Given the description of an element on the screen output the (x, y) to click on. 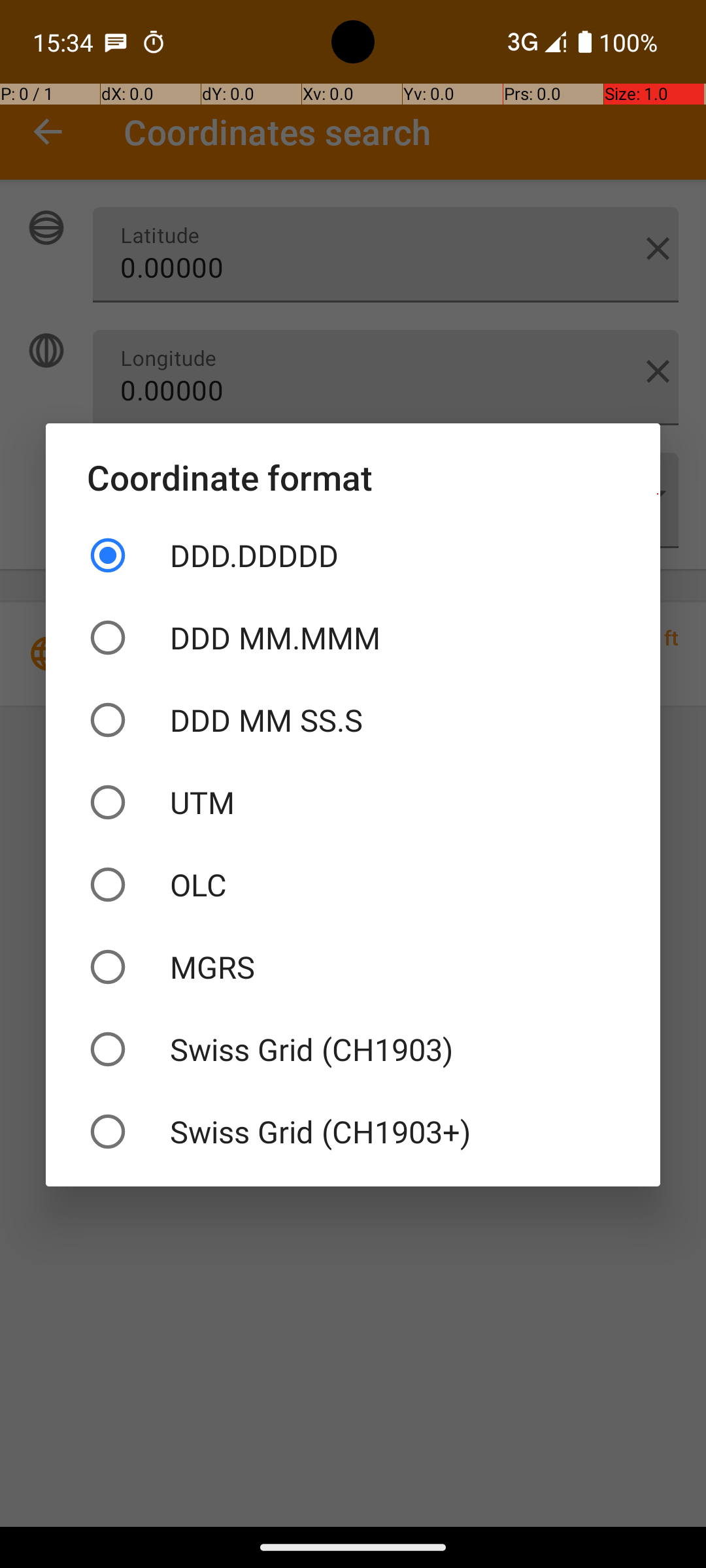
Coordinate format Element type: android.widget.TextView (352, 477)
DDD.DDDDD Element type: android.widget.CheckedTextView (352, 555)
DDD MM.MMM Element type: android.widget.CheckedTextView (352, 637)
DDD MM SS.S Element type: android.widget.CheckedTextView (352, 719)
UTM Element type: android.widget.CheckedTextView (352, 802)
OLC Element type: android.widget.CheckedTextView (352, 884)
MGRS Element type: android.widget.CheckedTextView (352, 966)
Swiss Grid (CH1903) Element type: android.widget.CheckedTextView (352, 1049)
Swiss Grid (CH1903+) Element type: android.widget.CheckedTextView (352, 1131)
